Given the description of an element on the screen output the (x, y) to click on. 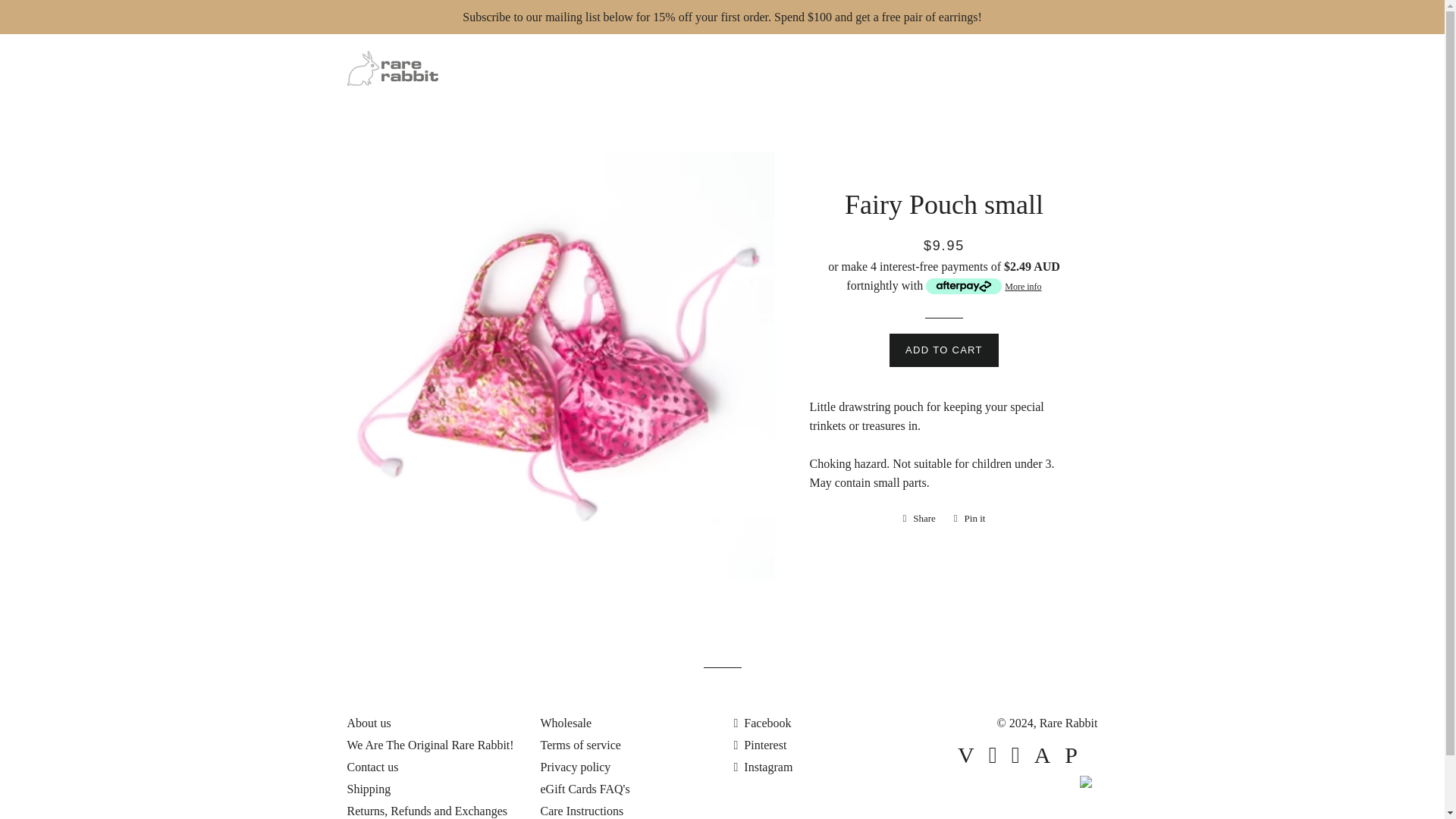
Share on Facebook (918, 517)
Rare Rabbit on Pinterest (760, 744)
Pin on Pinterest (969, 517)
Rare Rabbit on Instagram (763, 766)
Rare Rabbit on Facebook (762, 722)
